Given the description of an element on the screen output the (x, y) to click on. 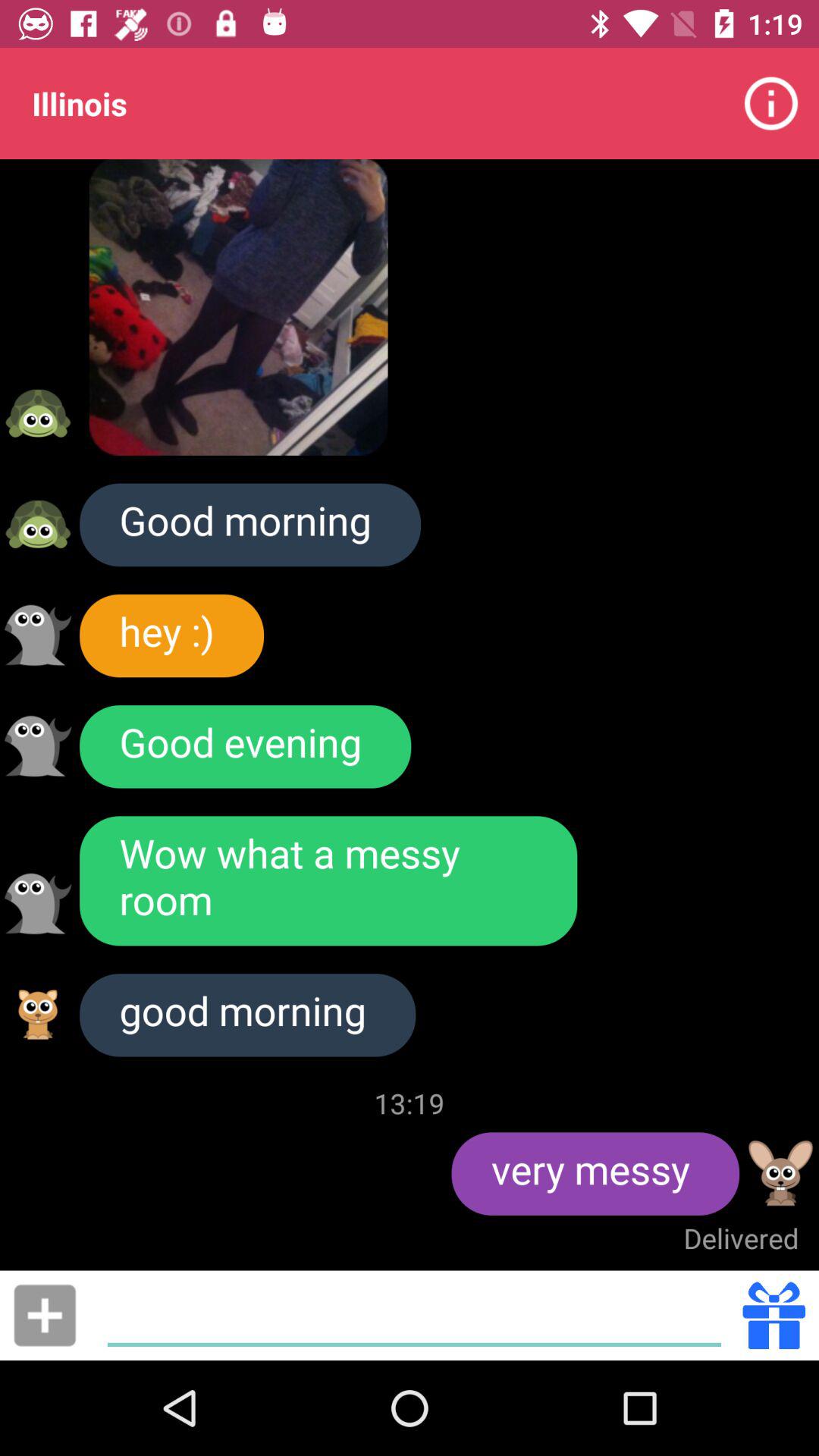
type text comment (414, 1315)
